Given the description of an element on the screen output the (x, y) to click on. 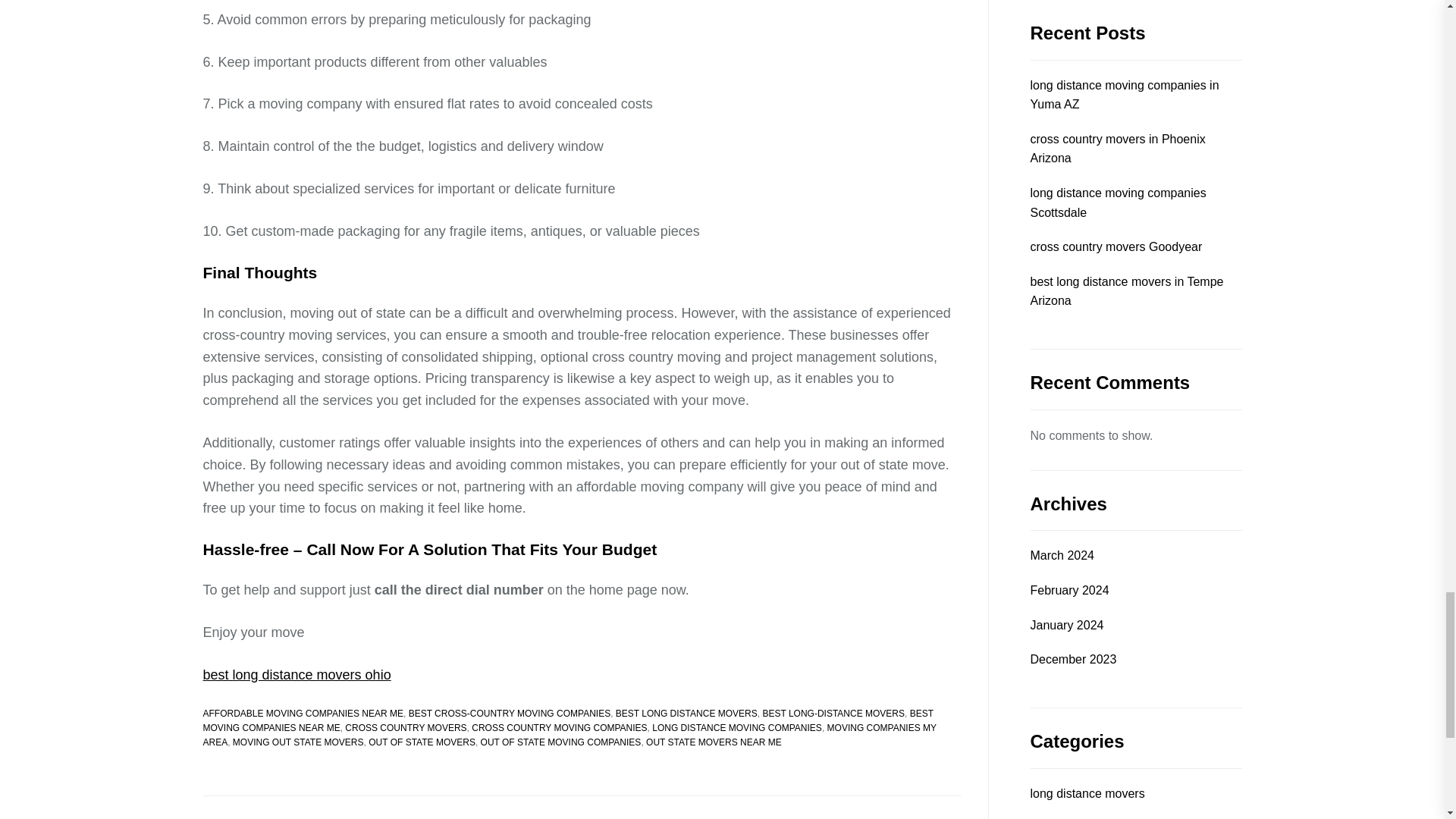
best long distance movers ohio (297, 674)
BEST LONG DISTANCE MOVERS (686, 713)
BEST CROSS-COUNTRY MOVING COMPANIES (509, 713)
CROSS COUNTRY MOVERS (405, 727)
MOVING COMPANIES MY AREA (569, 734)
MOVING OUT STATE MOVERS (298, 742)
BEST LONG-DISTANCE MOVERS (832, 713)
OUT OF STATE MOVING COMPANIES (561, 742)
OUT STATE MOVERS NEAR ME (713, 742)
BEST MOVING COMPANIES NEAR ME (568, 720)
CROSS COUNTRY MOVING COMPANIES (558, 727)
LONG DISTANCE MOVING COMPANIES (737, 727)
AFFORDABLE MOVING COMPANIES NEAR ME (303, 713)
OUT OF STATE MOVERS (422, 742)
